Given the description of an element on the screen output the (x, y) to click on. 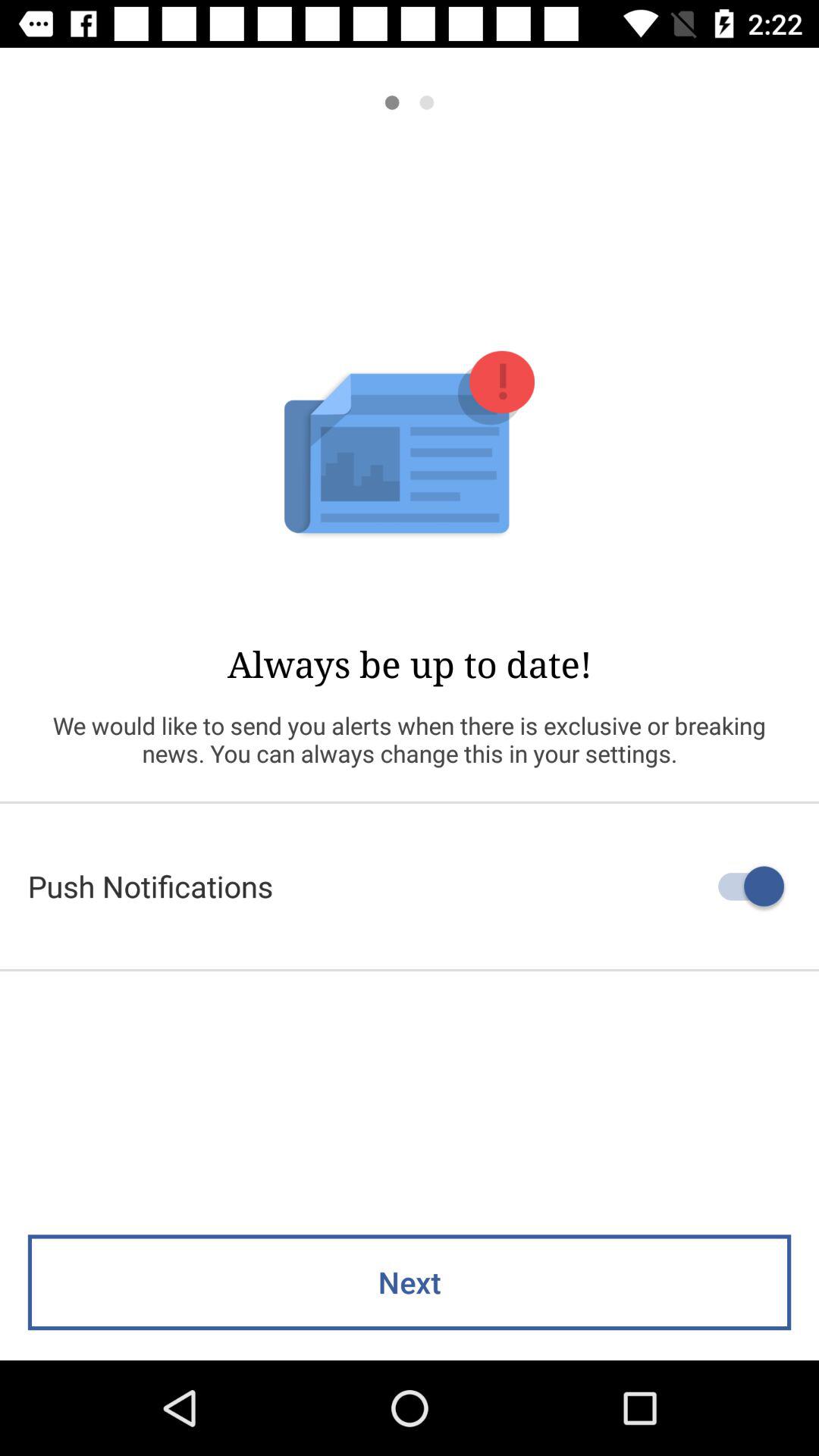
press next item (409, 1282)
